Given the description of an element on the screen output the (x, y) to click on. 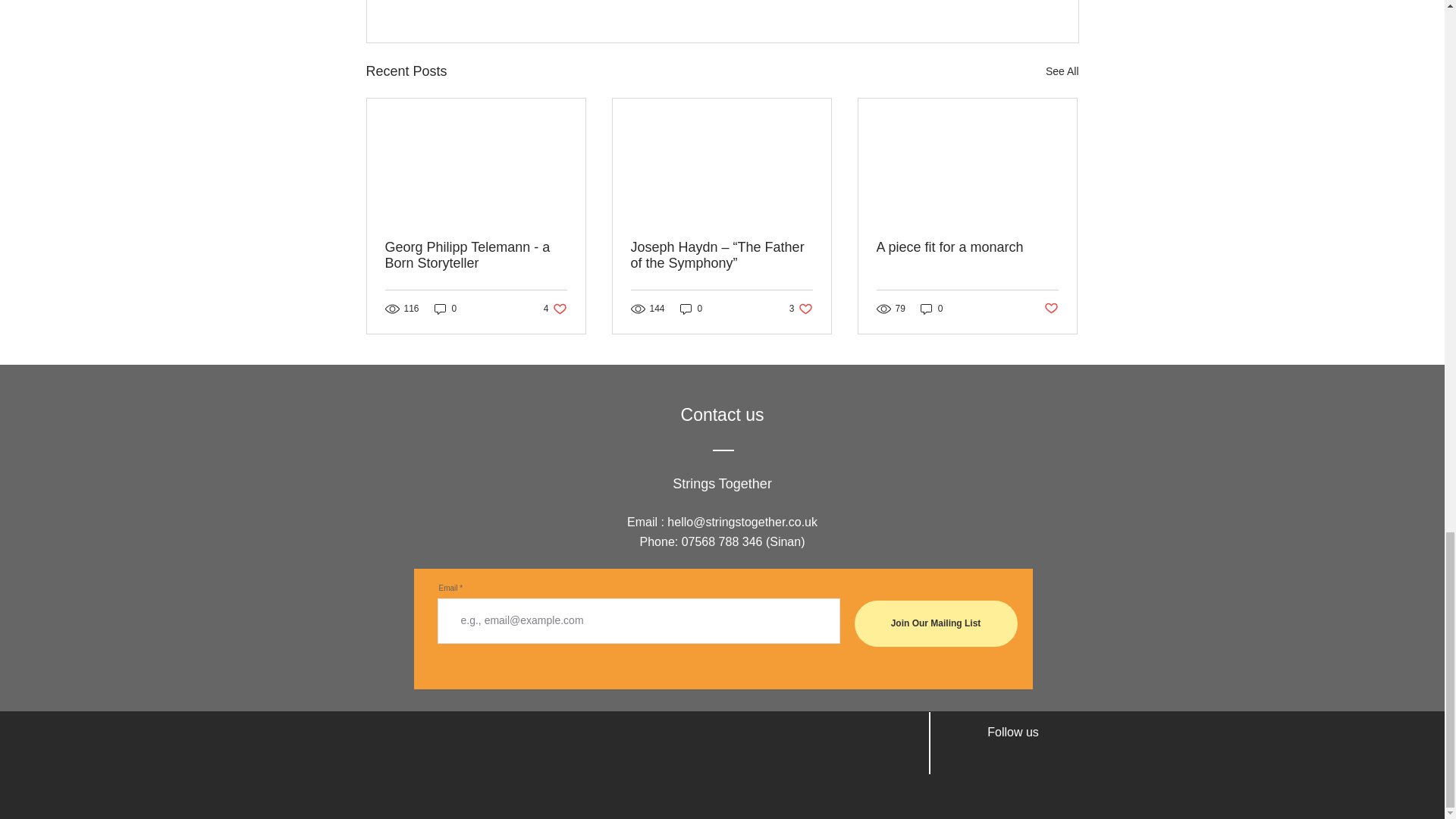
A piece fit for a monarch (967, 247)
0 (931, 308)
Post not marked as liked (1050, 308)
Georg Philipp Telemann - a Born Storyteller (476, 255)
0 (555, 308)
See All (800, 308)
Join Our Mailing List (691, 308)
0 (1061, 71)
